Given the description of an element on the screen output the (x, y) to click on. 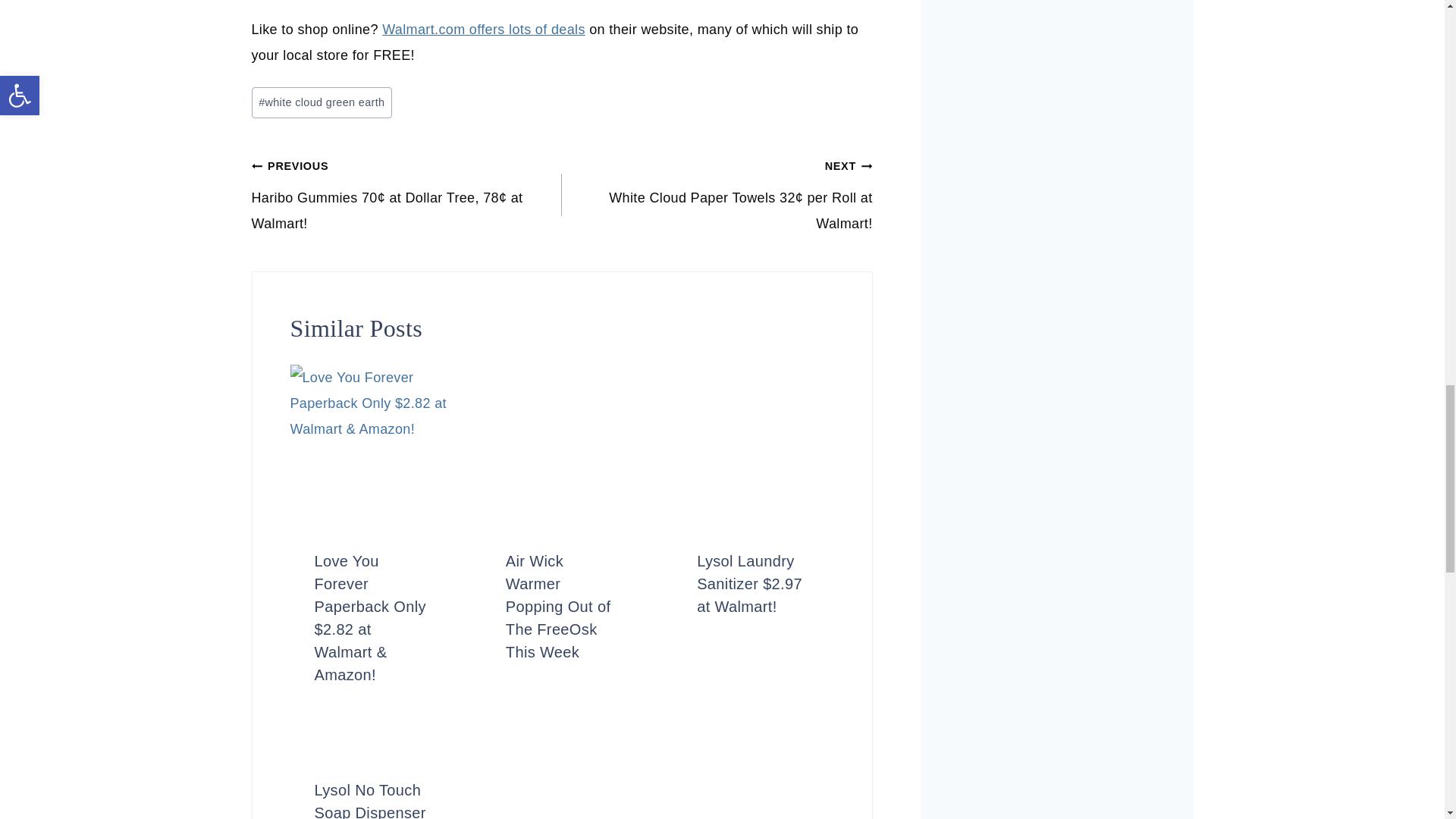
white cloud green earth (322, 101)
